Given the description of an element on the screen output the (x, y) to click on. 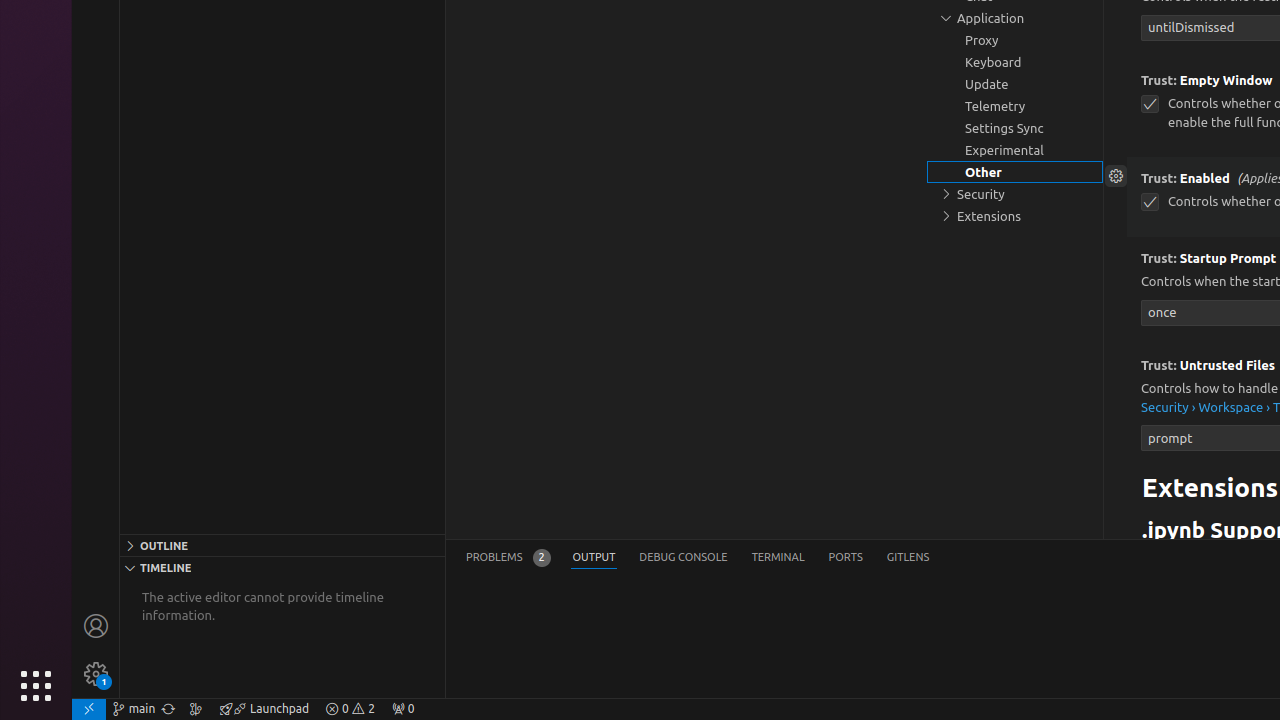
Terminal (Ctrl+`) Element type: page-tab (778, 557)
Outline Section Element type: push-button (282, 545)
